Given the description of an element on the screen output the (x, y) to click on. 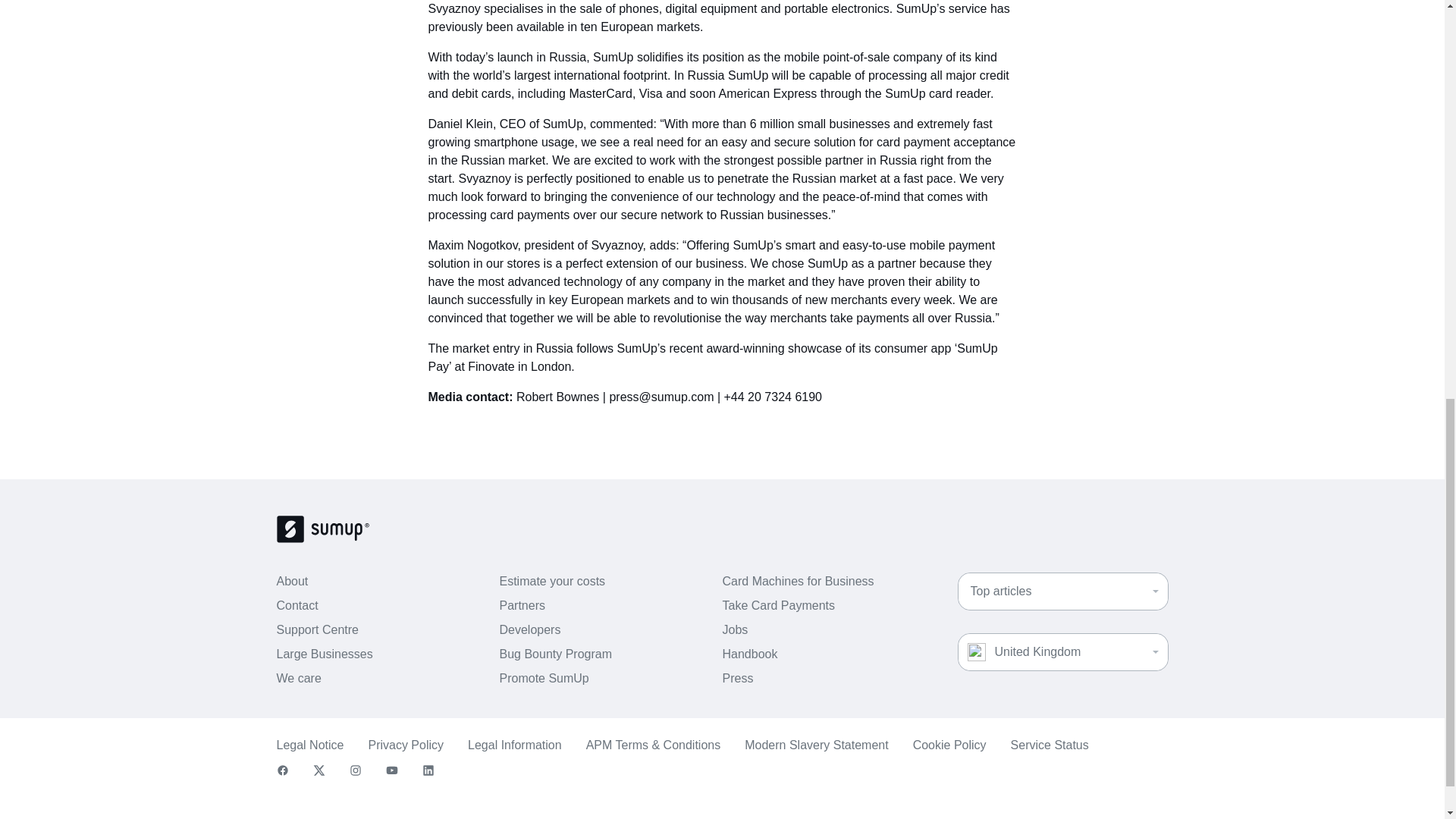
Press (737, 678)
Take Card Payments (778, 605)
Estimate your costs (552, 581)
Partners (521, 605)
Support Centre (317, 630)
Card Machines for Business (797, 581)
Promote SumUp (543, 678)
Jobs (735, 630)
Contact (296, 605)
About (291, 581)
